Given the description of an element on the screen output the (x, y) to click on. 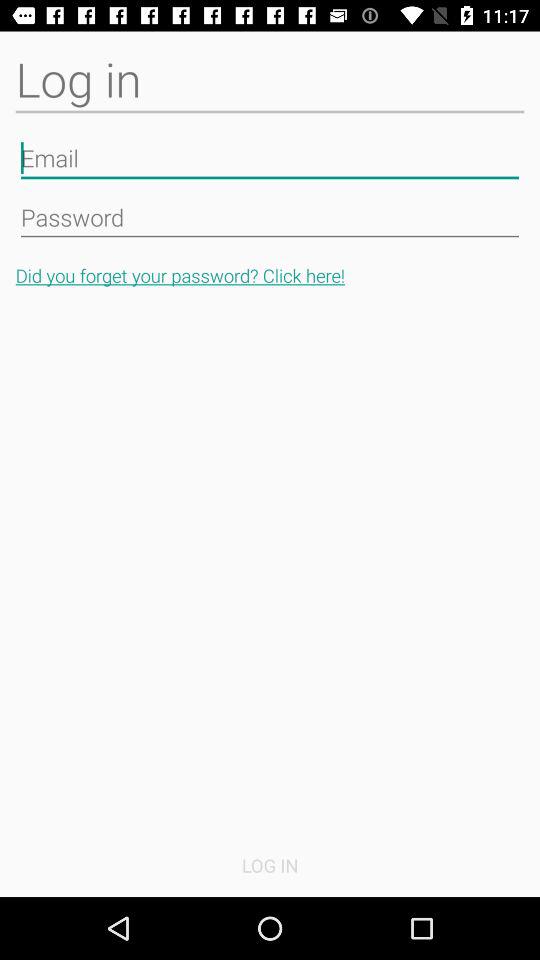
choose the did you forget (269, 275)
